Given the description of an element on the screen output the (x, y) to click on. 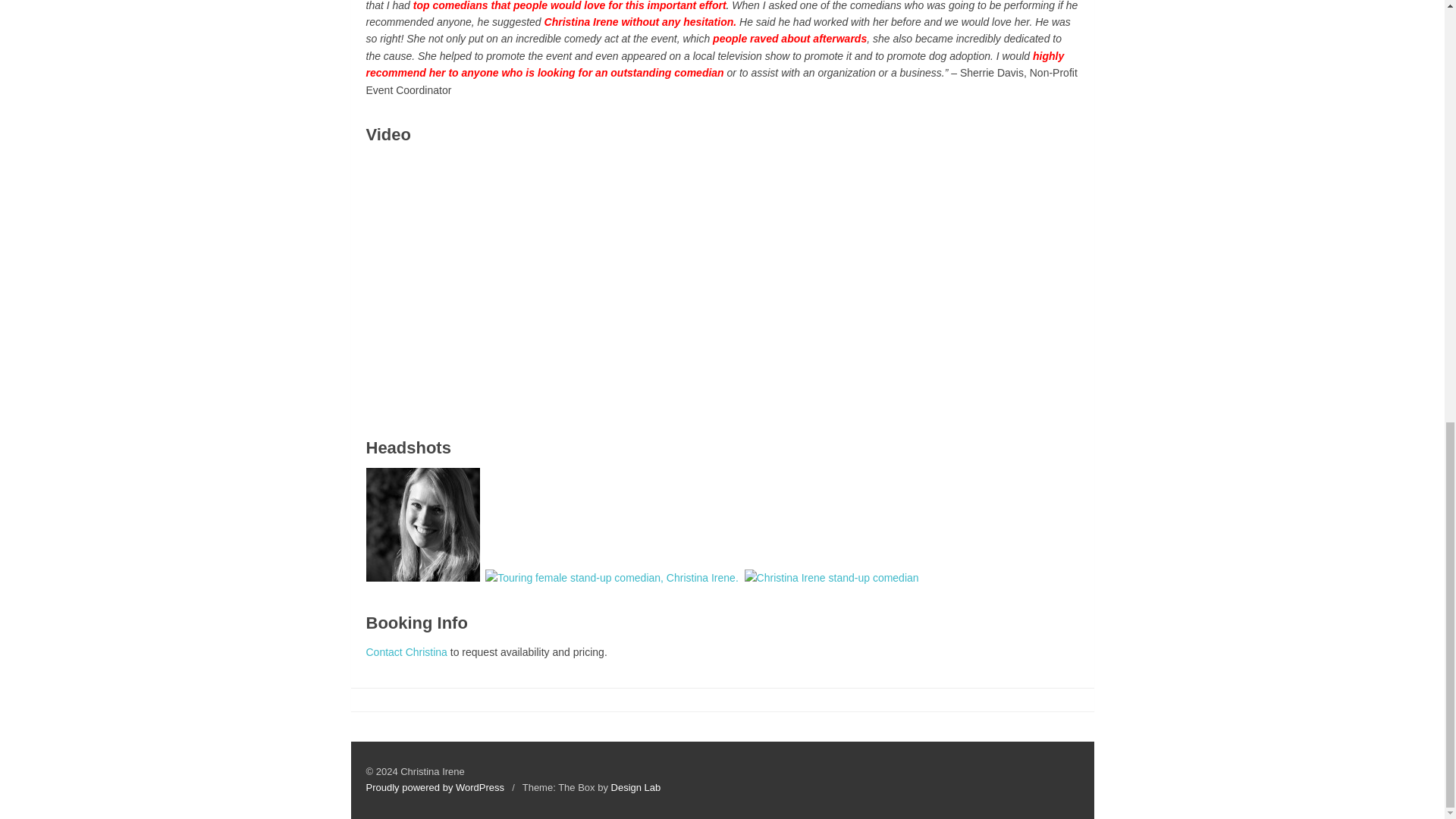
Stand-Up Comedian, Christina Irene (422, 524)
Contact Christina  (407, 652)
Stand-Up Comedian, Christina Irene (611, 577)
Contact (407, 652)
A Woman's Unexpected Struggles at the Gym (593, 283)
Proudly powered by WordPress (434, 787)
Design Lab (636, 787)
